Given the description of an element on the screen output the (x, y) to click on. 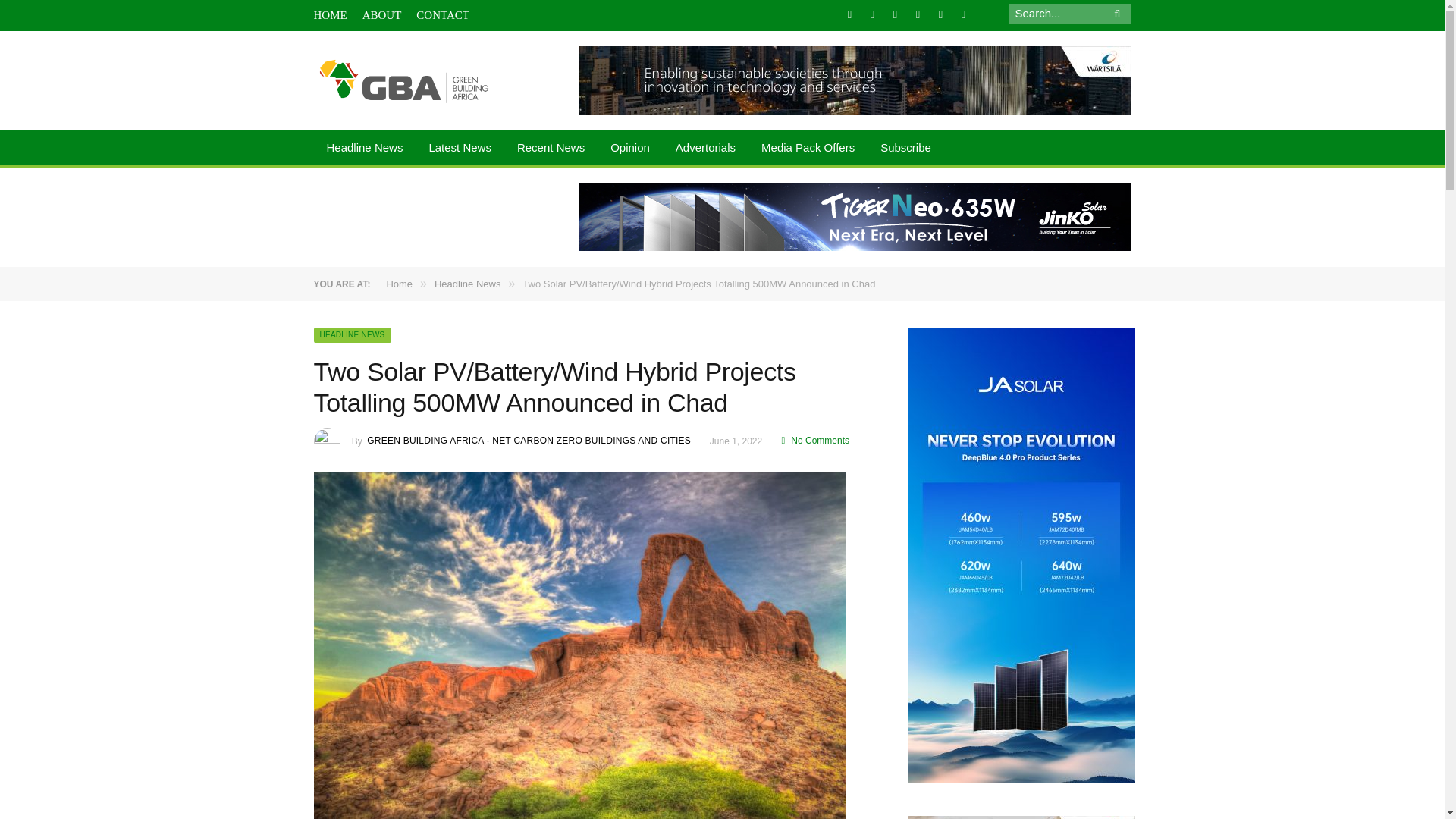
Instagram (917, 14)
YouTube (963, 14)
LinkedIn (894, 14)
YouTube (963, 14)
Twitter (871, 14)
Wartsila 2024 3 (855, 79)
Recent News (549, 148)
Facebook (849, 14)
Green Building Africa (404, 79)
Twitter (871, 14)
Instagram (917, 14)
Facebook (849, 14)
Advertorials (705, 148)
Pinerest (940, 14)
LinkedIn (894, 14)
